Given the description of an element on the screen output the (x, y) to click on. 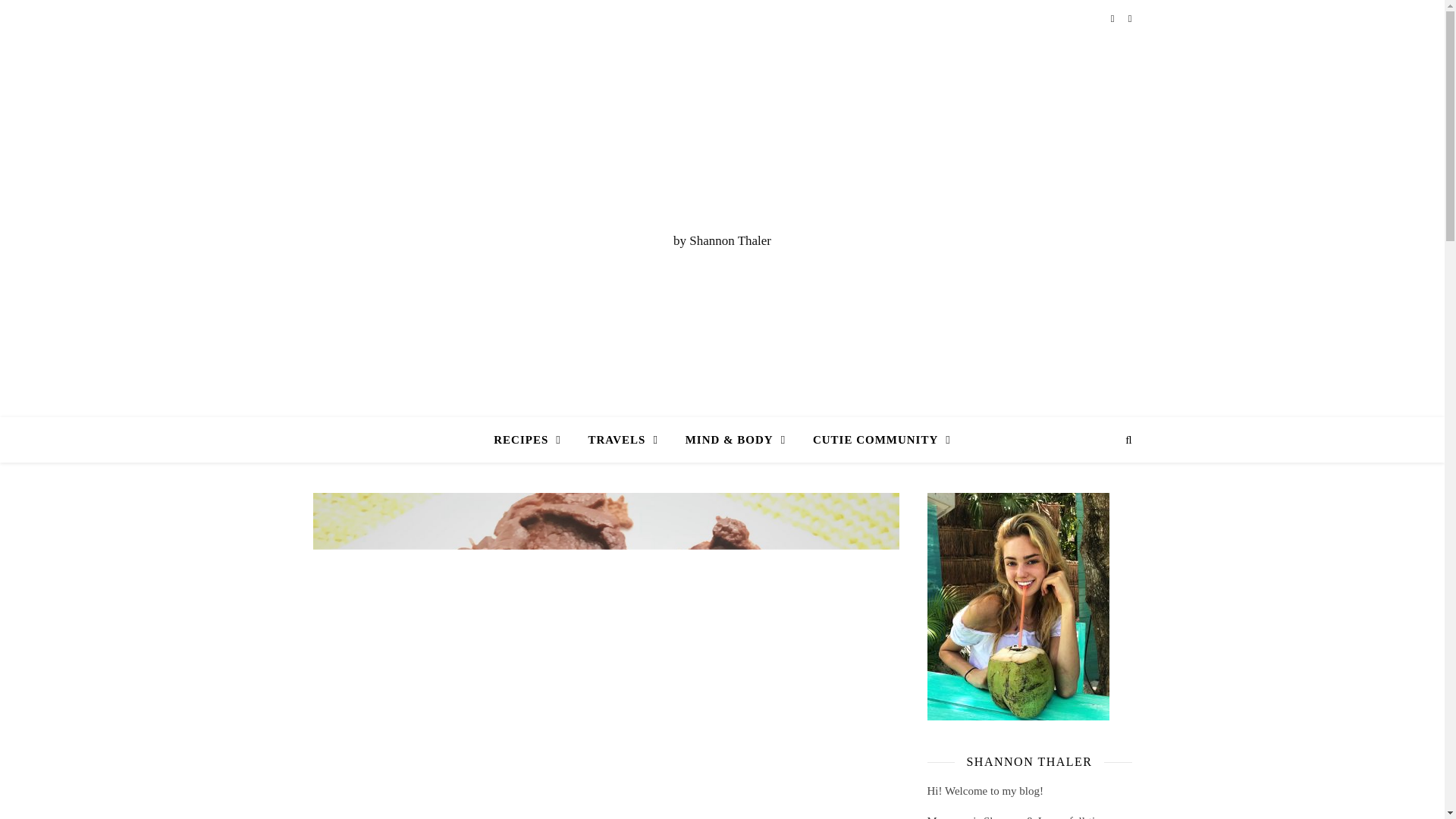
CUTIE COMMUNITY (875, 439)
RECIPES (533, 439)
TRAVELS (622, 439)
